Given the description of an element on the screen output the (x, y) to click on. 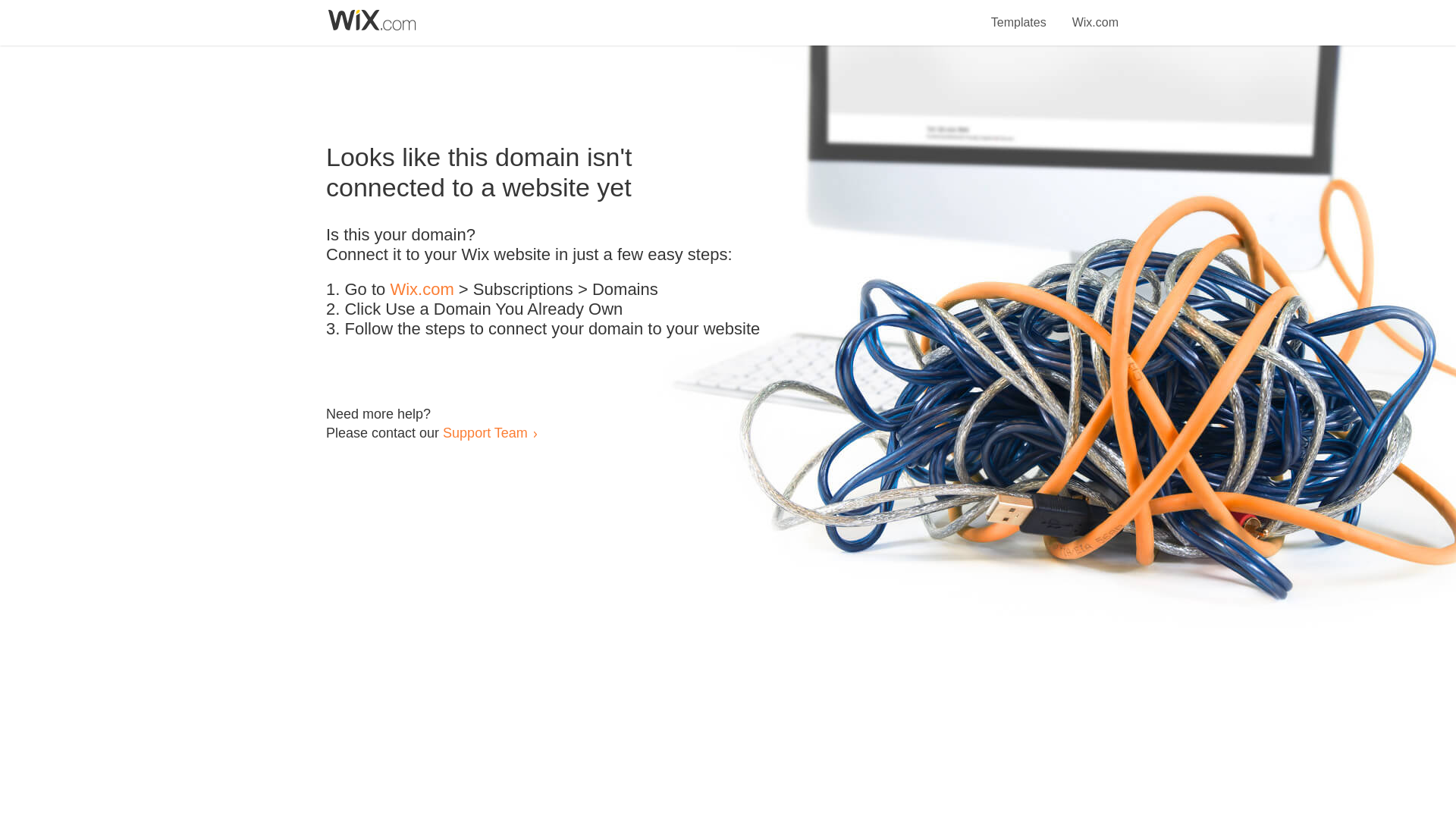
Wix.com (1095, 14)
Wix.com (421, 289)
Support Team (484, 432)
Templates (1018, 14)
